Given the description of an element on the screen output the (x, y) to click on. 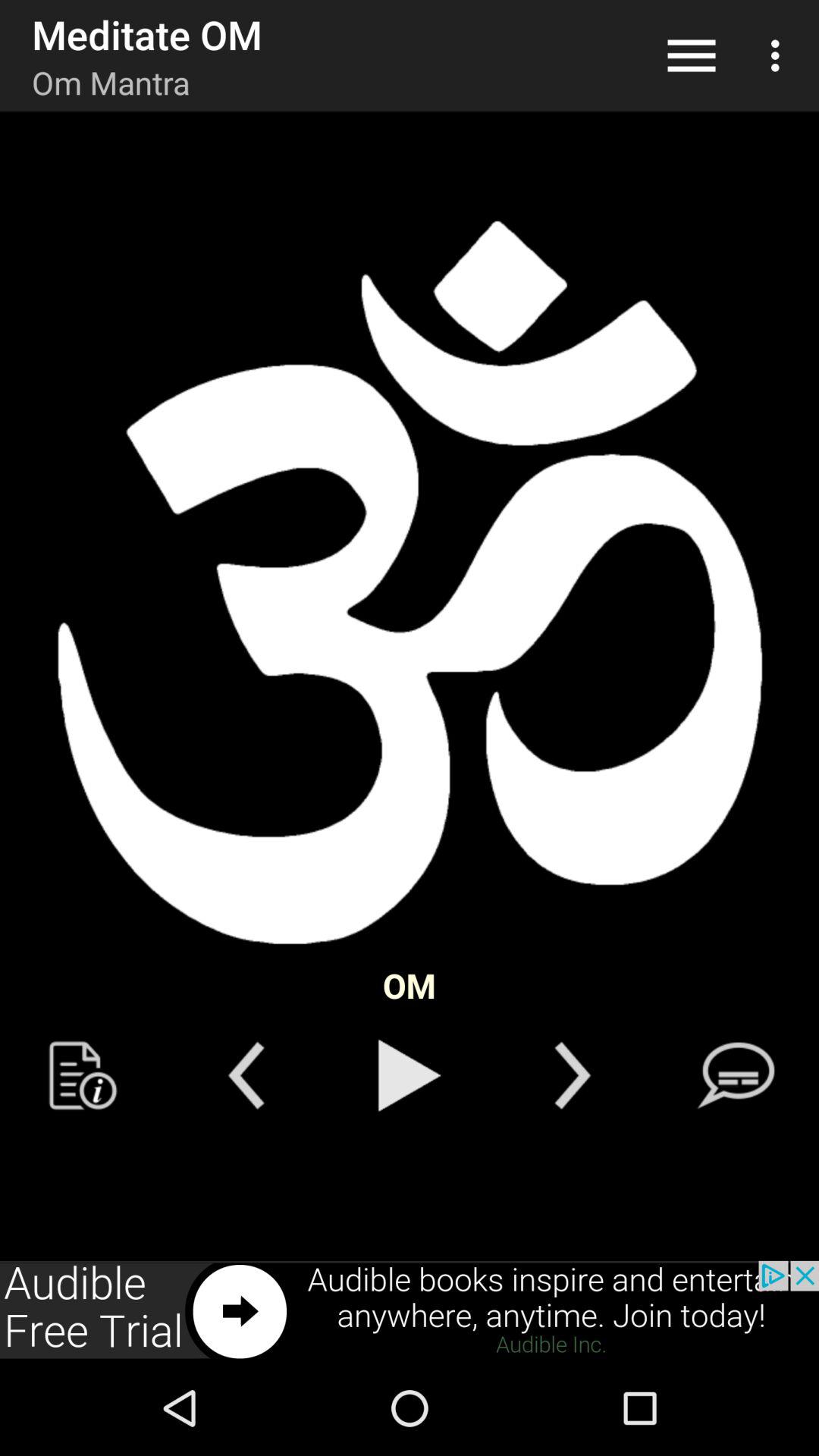
back the option (246, 1075)
